Given the description of an element on the screen output the (x, y) to click on. 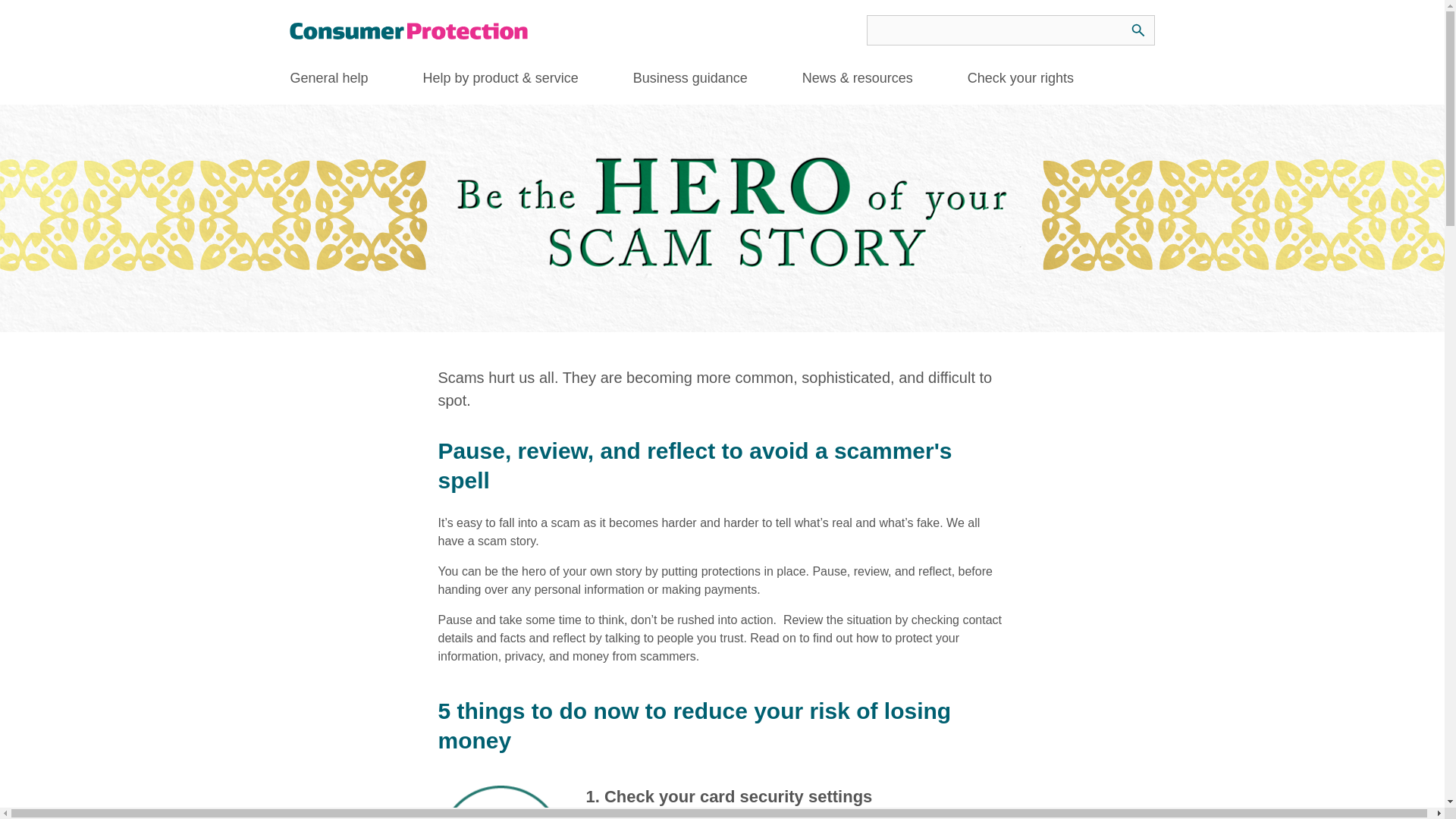
Consumer Protection (409, 30)
Enter search terms (1010, 30)
